Given the description of an element on the screen output the (x, y) to click on. 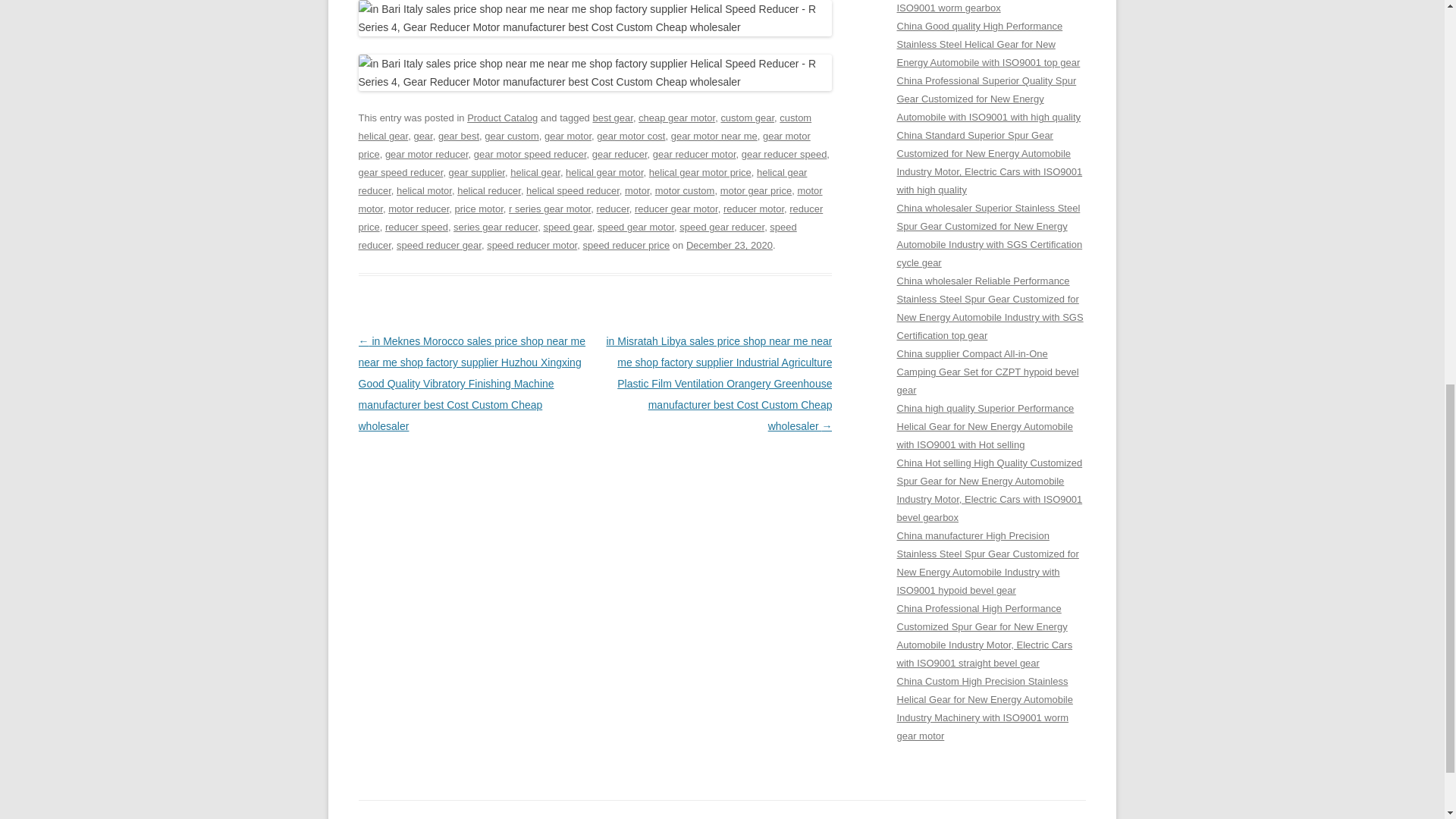
gear motor speed reducer (530, 153)
motor motor (590, 199)
motor (636, 190)
helical gear motor price (700, 172)
best gear (611, 117)
helical reducer (489, 190)
r series gear motor (549, 208)
gear motor cost (630, 135)
helical gear (535, 172)
reducer (611, 208)
price motor (478, 208)
gear reducer motor (694, 153)
gear best (458, 135)
gear custom (511, 135)
